Given the description of an element on the screen output the (x, y) to click on. 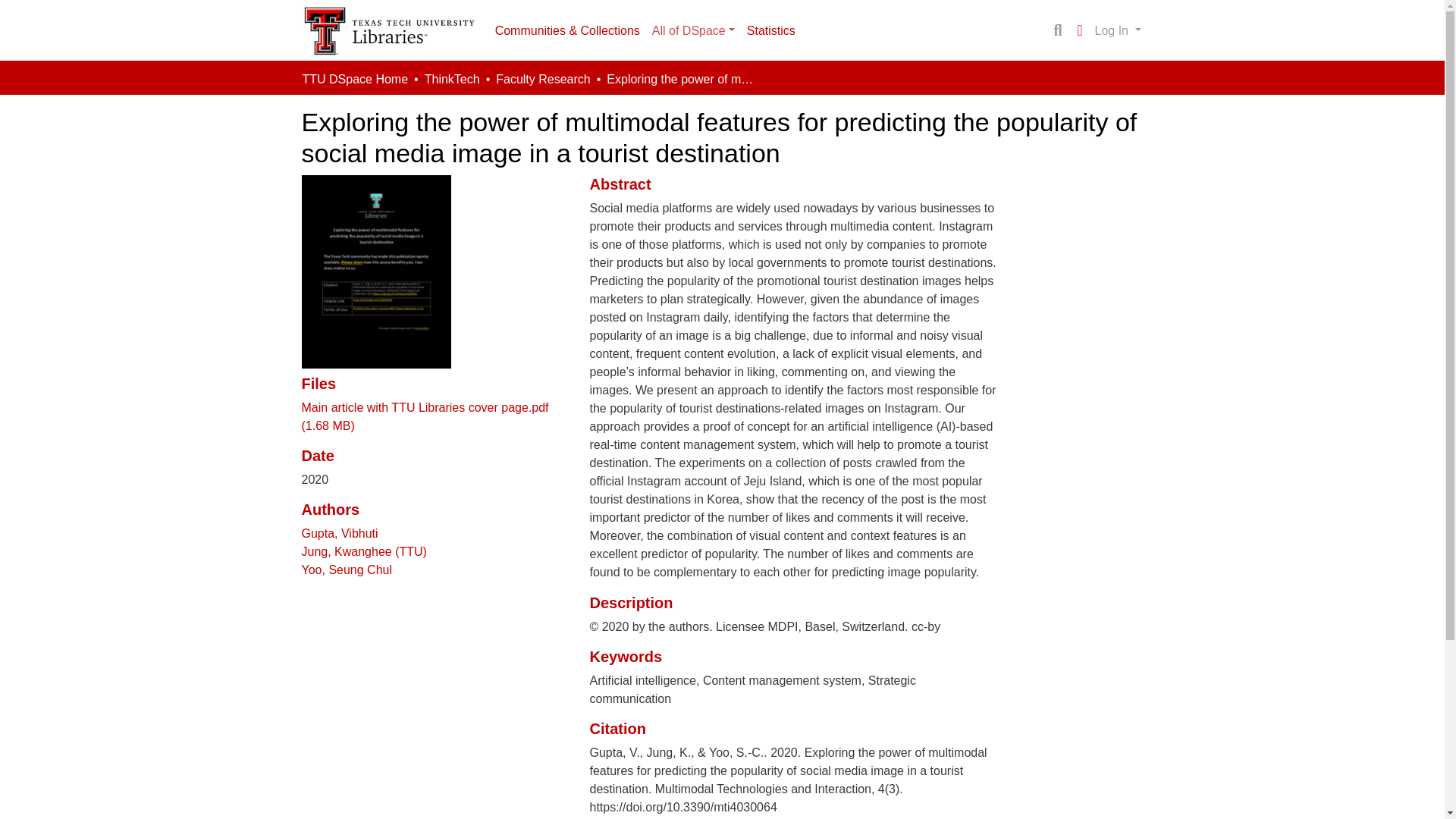
Language switch (1079, 30)
ThinkTech (452, 79)
Yoo, Seung Chul (347, 569)
Faculty Research (543, 79)
Gupta, Vibhuti (339, 533)
Log In (1117, 30)
Statistics (771, 30)
Statistics (771, 30)
TTU DSpace Home (354, 79)
Search (1057, 30)
